Given the description of an element on the screen output the (x, y) to click on. 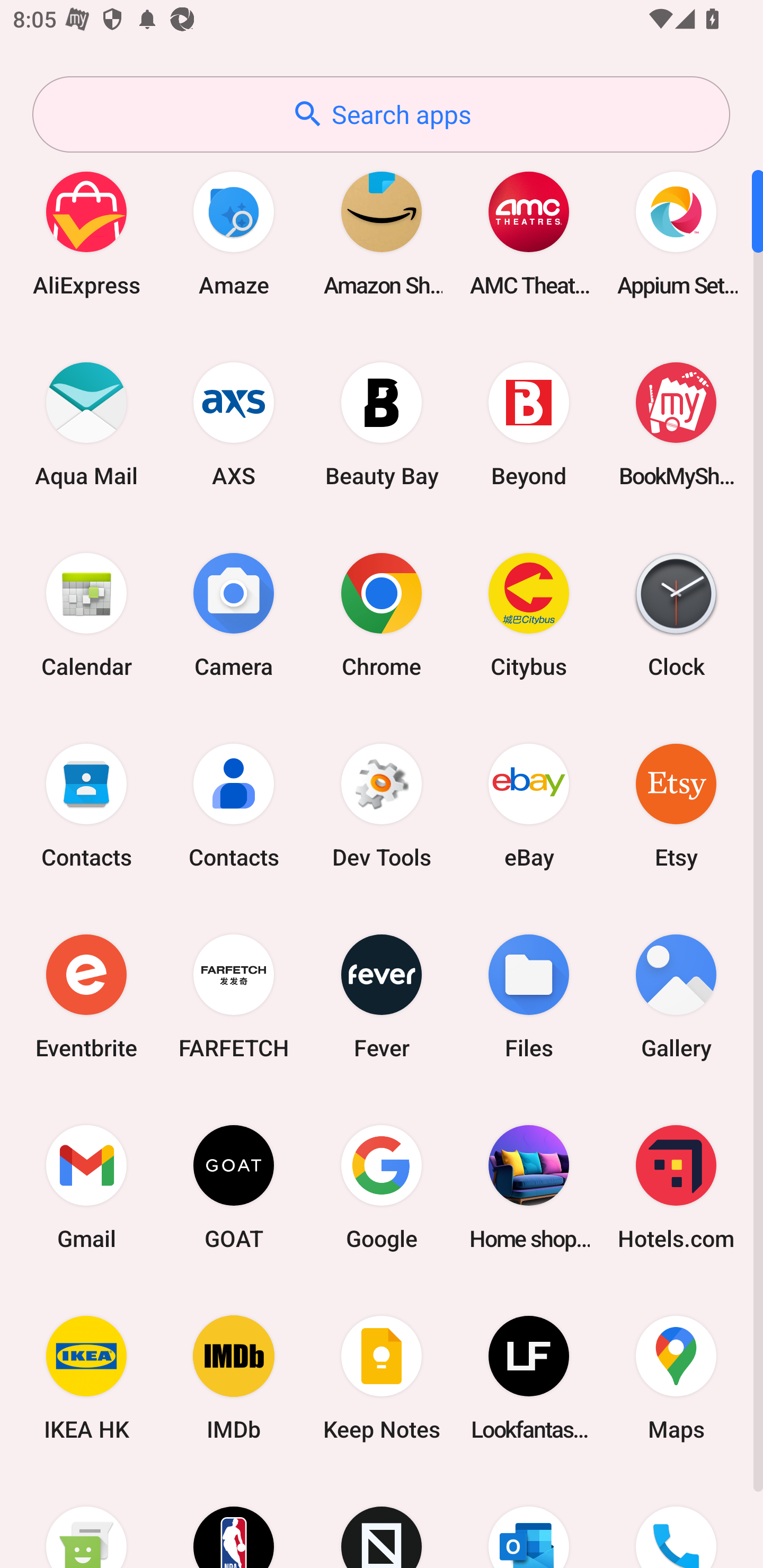
  Search apps (381, 114)
AliExpress (86, 233)
Amaze (233, 233)
Amazon Shopping (381, 233)
AMC Theatres (528, 233)
Appium Settings (676, 233)
Aqua Mail (86, 424)
AXS (233, 424)
Beauty Bay (381, 424)
Beyond (528, 424)
BookMyShow (676, 424)
Calendar (86, 614)
Camera (233, 614)
Chrome (381, 614)
Citybus (528, 614)
Clock (676, 614)
Contacts (86, 805)
Contacts (233, 805)
Dev Tools (381, 805)
eBay (528, 805)
Etsy (676, 805)
Eventbrite (86, 996)
FARFETCH (233, 996)
Fever (381, 996)
Files (528, 996)
Gallery (676, 996)
Gmail (86, 1186)
GOAT (233, 1186)
Google (381, 1186)
Home shopping (528, 1186)
Hotels.com (676, 1186)
IKEA HK (86, 1377)
IMDb (233, 1377)
Keep Notes (381, 1377)
Lookfantastic (528, 1377)
Maps (676, 1377)
